Given the description of an element on the screen output the (x, y) to click on. 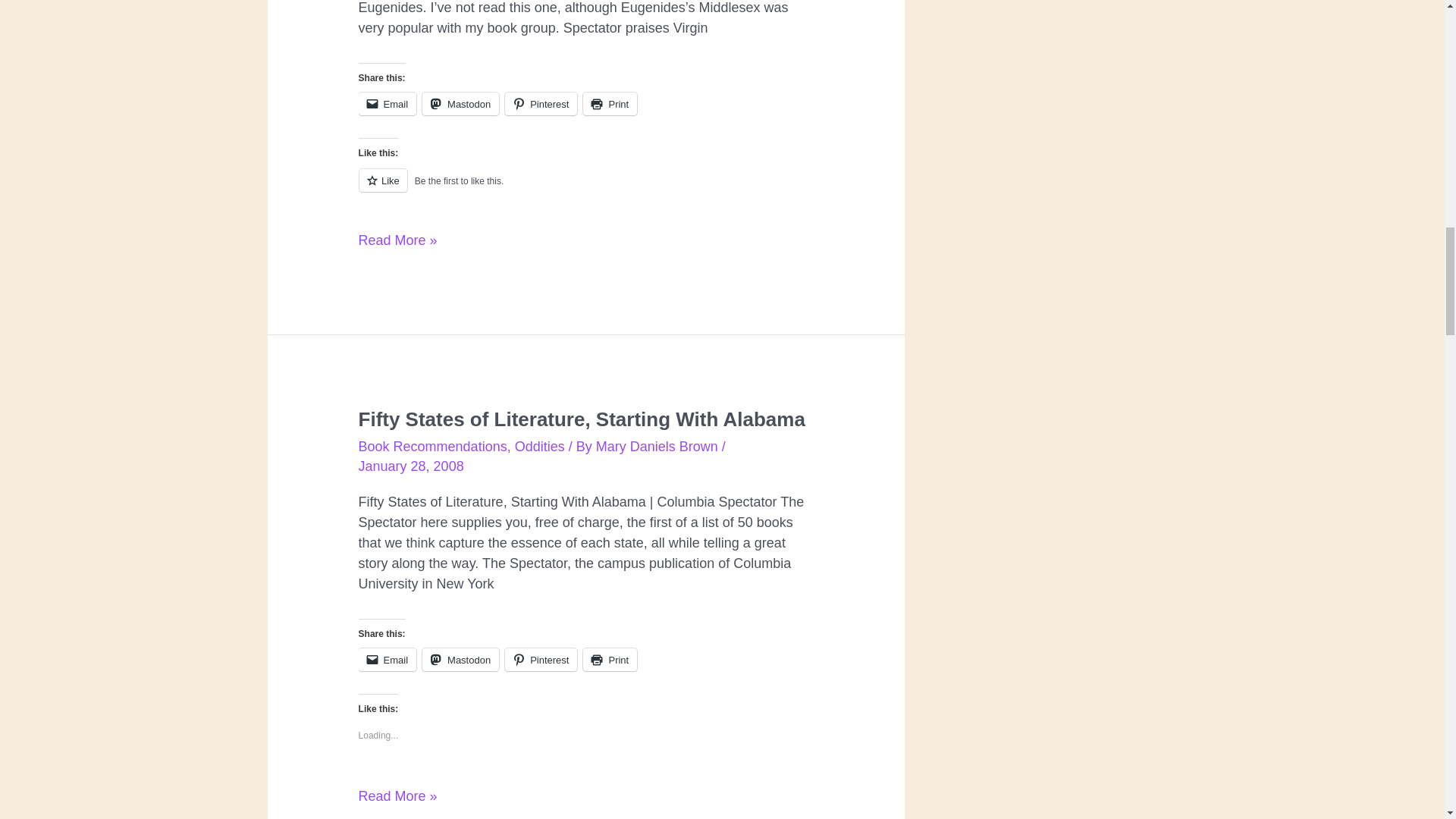
Click to share on Mastodon (460, 103)
Click to email a link to a friend (387, 103)
